Given the description of an element on the screen output the (x, y) to click on. 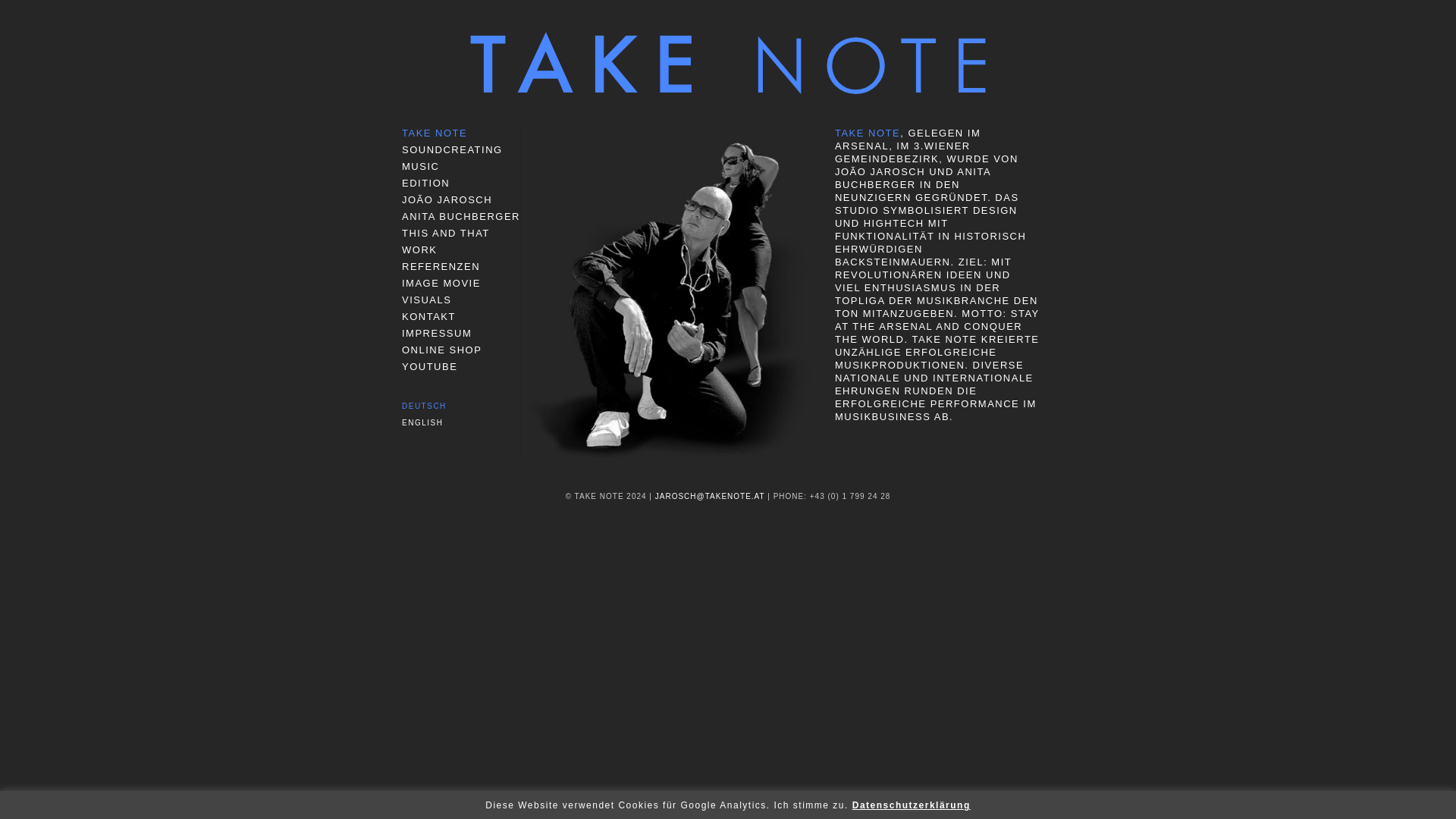
gratowin (860, 451)
ENGLISH (421, 422)
REFERENZEN (440, 266)
VISUALS (426, 299)
ONLINE SHOP (441, 349)
KONTAKT (428, 316)
book-of-ra-slot.com (894, 452)
WORK (418, 249)
DEUTSCH (423, 406)
ANITA BUCHBERGER (460, 215)
